Given the description of an element on the screen output the (x, y) to click on. 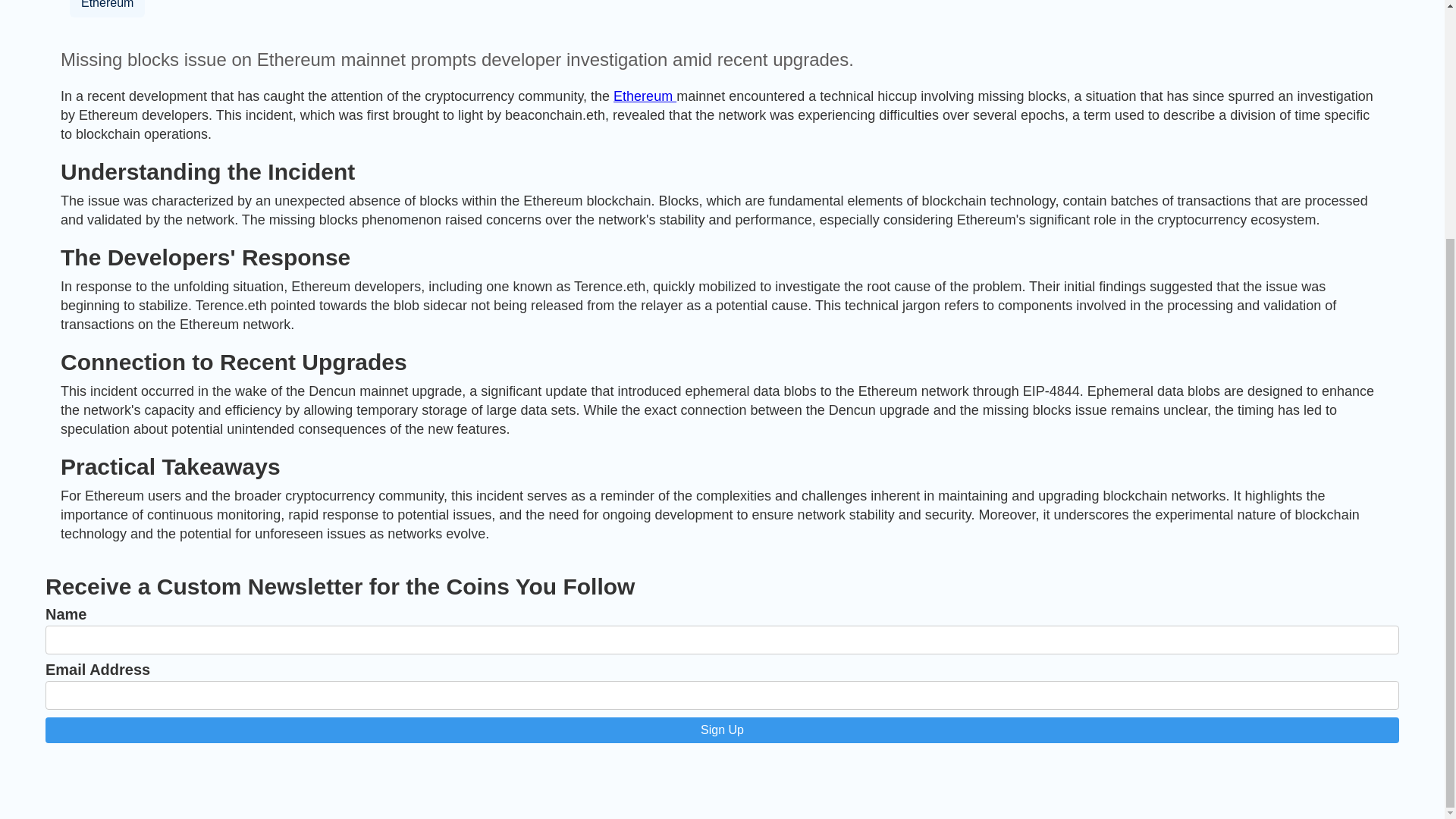
Ethereum (644, 96)
Sign Up (722, 729)
Ethereum (106, 8)
Sign Up (722, 729)
